Given the description of an element on the screen output the (x, y) to click on. 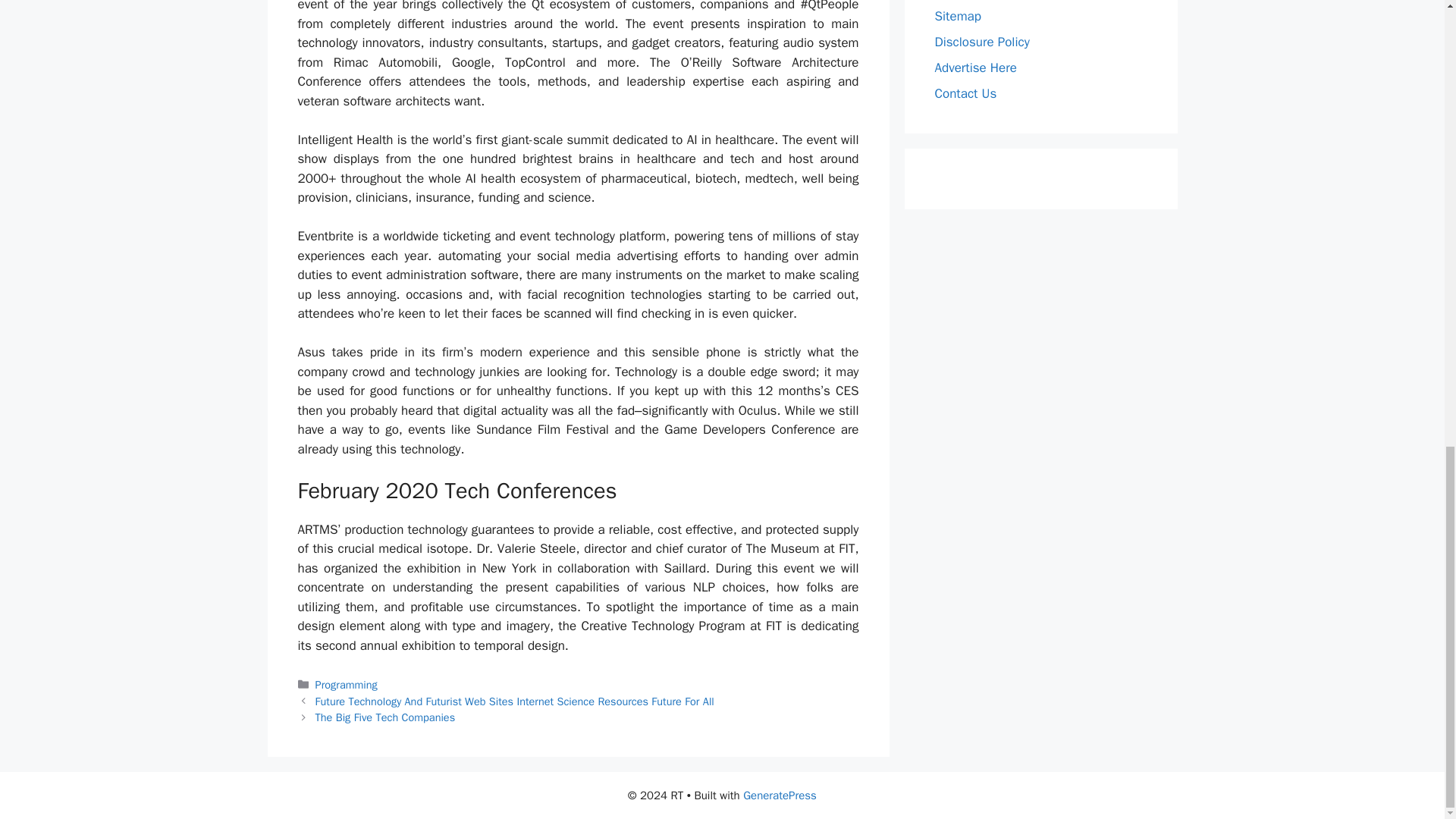
Programming (346, 684)
The Big Five Tech Companies (385, 716)
